Given the description of an element on the screen output the (x, y) to click on. 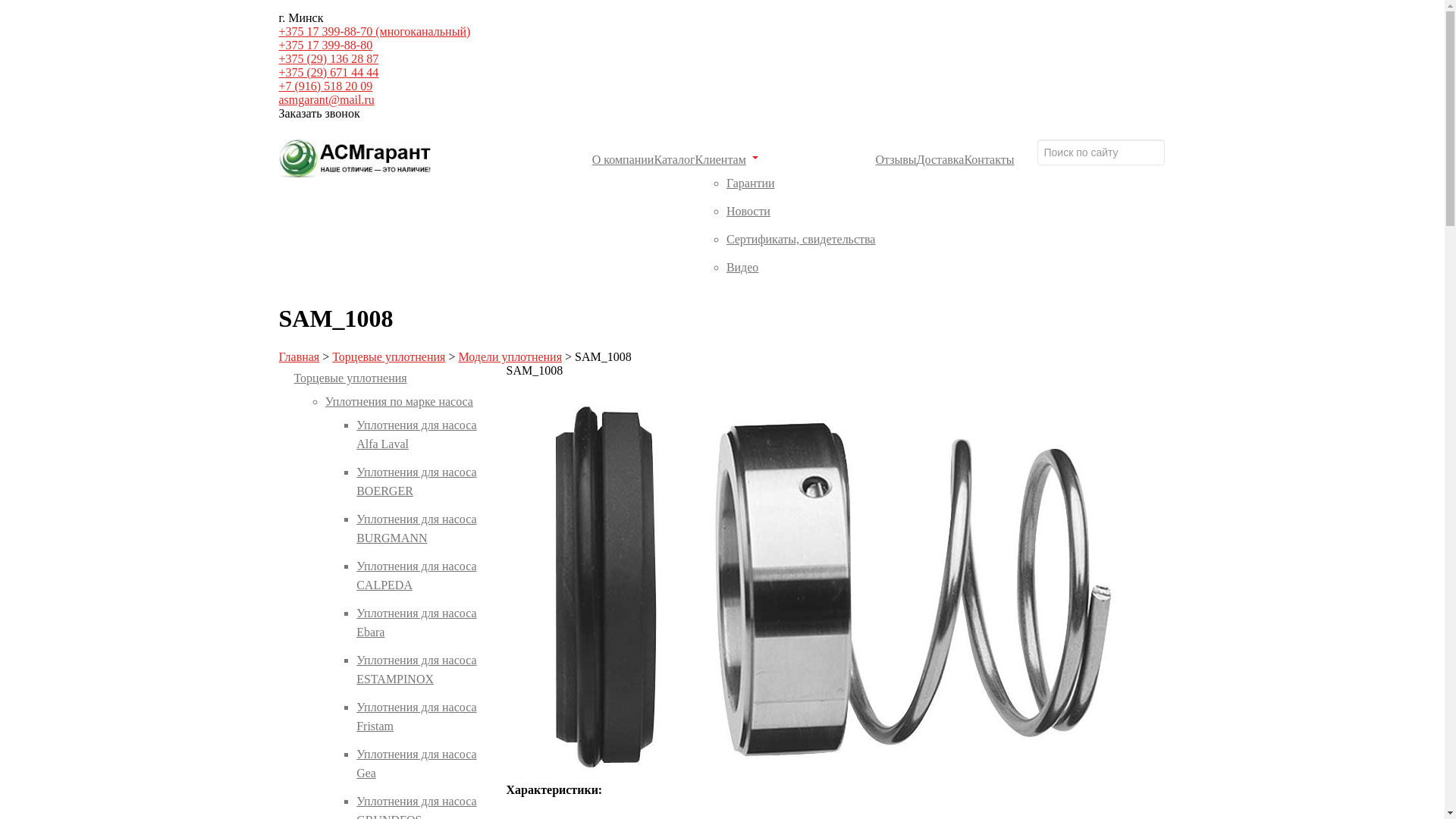
+7 (916) 518 20 09 Element type: text (326, 85)
+375 17 399-88-80 Element type: text (326, 44)
+375 (29) 671 44 44 Element type: text (329, 71)
+375 (29) 136 28 87 Element type: text (329, 58)
asmgarant@mail.ru Element type: text (326, 99)
